Given the description of an element on the screen output the (x, y) to click on. 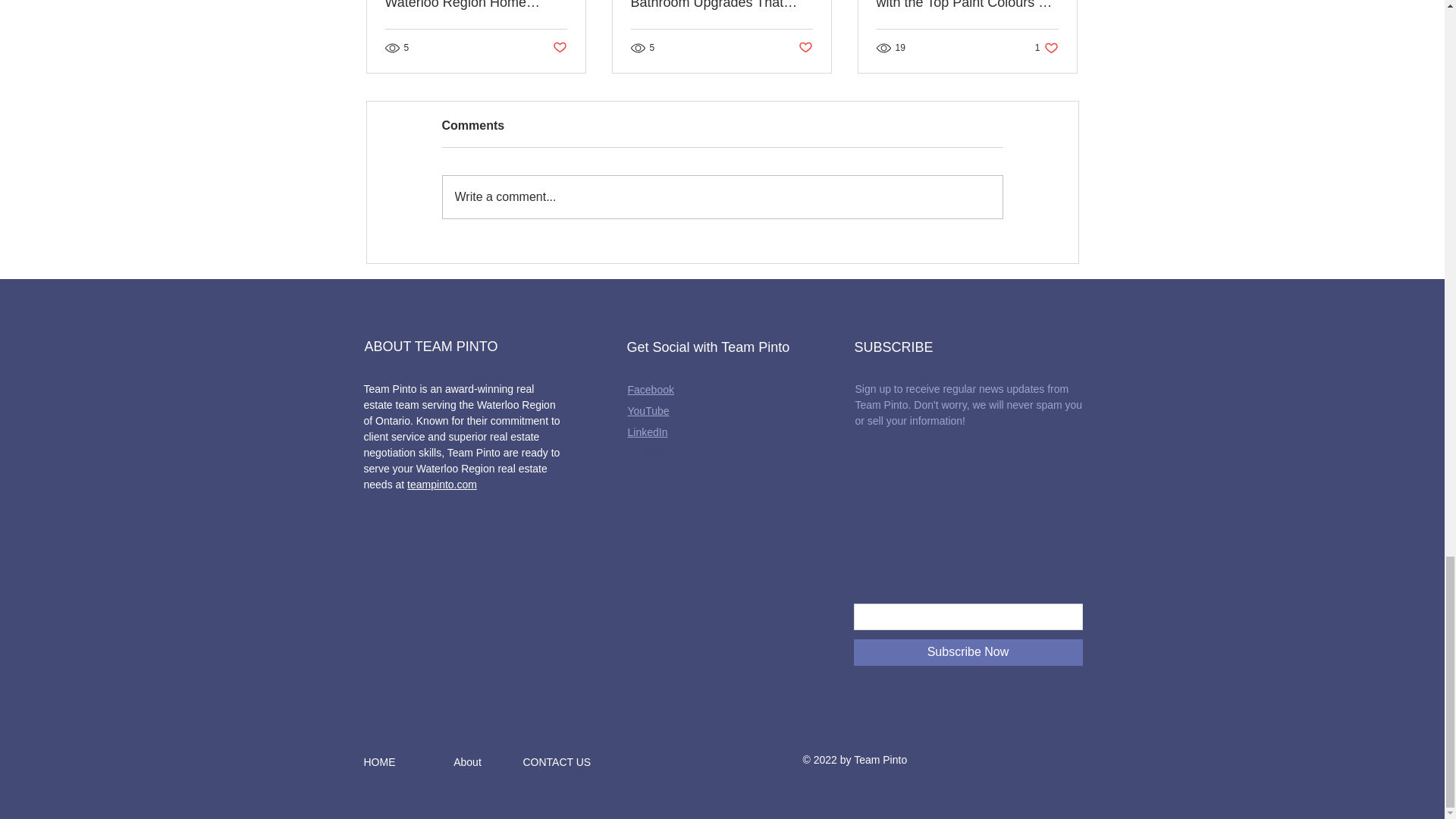
Write a comment... (1046, 47)
Post not marked as liked (722, 197)
Post not marked as liked (558, 48)
